Given the description of an element on the screen output the (x, y) to click on. 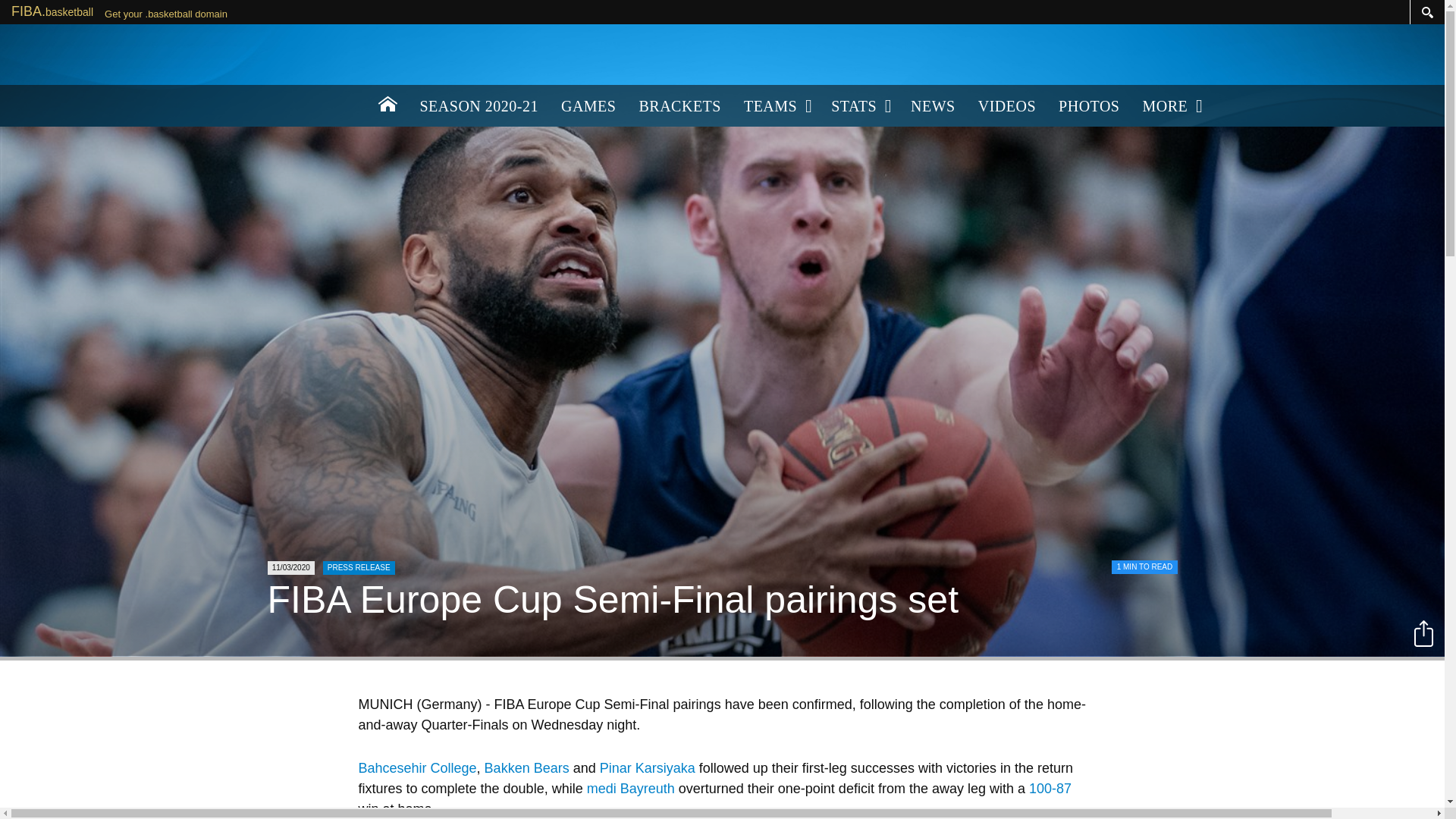
GAMES (588, 105)
Get your .basketball domain (165, 13)
BRACKETS (679, 105)
FIBA.basketball (52, 11)
TEAMS (775, 105)
SEASON 2020-21 (477, 105)
